Given the description of an element on the screen output the (x, y) to click on. 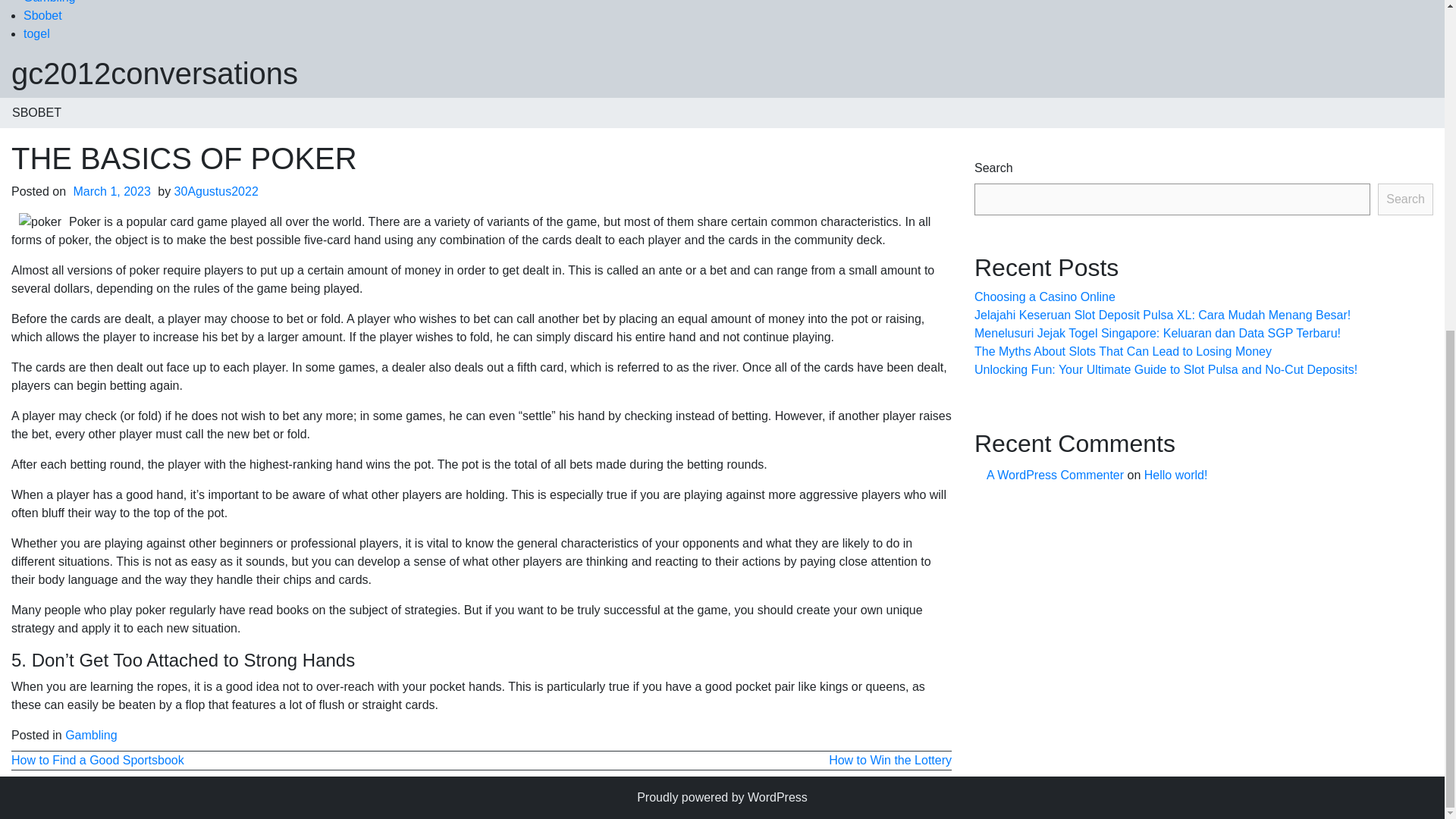
SBOBET (37, 112)
Gambling (49, 2)
Search (1404, 199)
How to Win the Lottery (890, 759)
30Agustus2022 (216, 191)
March 1, 2023 (111, 191)
Choosing a Casino Online (1044, 296)
How to Find a Good Sportsbook (97, 759)
Gambling (90, 735)
